Given the description of an element on the screen output the (x, y) to click on. 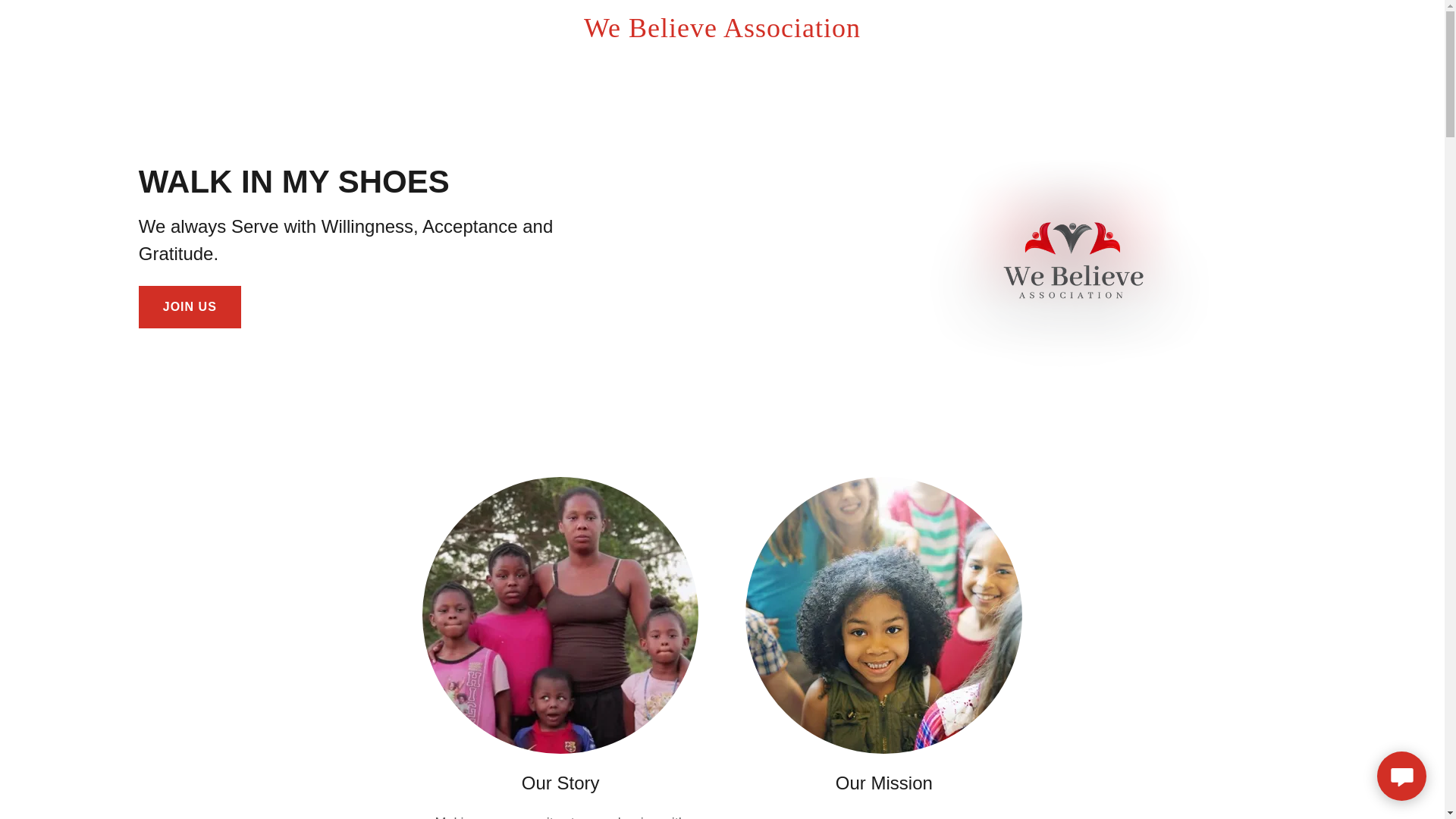
We Believe Association (722, 32)
JOIN US (189, 306)
We Believe Association (722, 32)
